Given the description of an element on the screen output the (x, y) to click on. 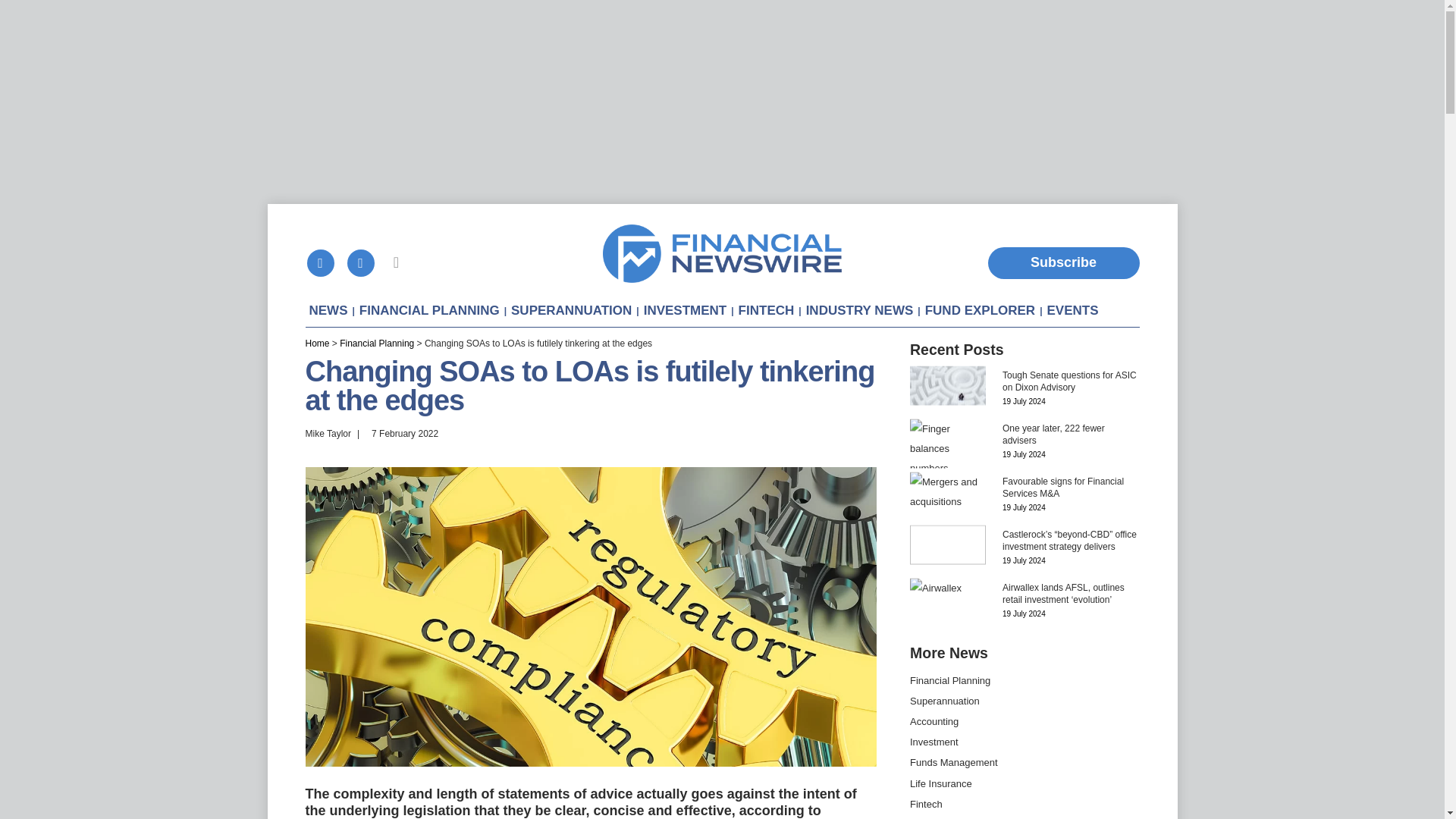
NEWS (328, 310)
FUND EXPLORER (979, 310)
search (395, 262)
INVESTMENT (685, 310)
FINTECH (766, 310)
LINKEDIN (1025, 440)
SUPERANNUATION (362, 262)
EVENTS (571, 310)
